Given the description of an element on the screen output the (x, y) to click on. 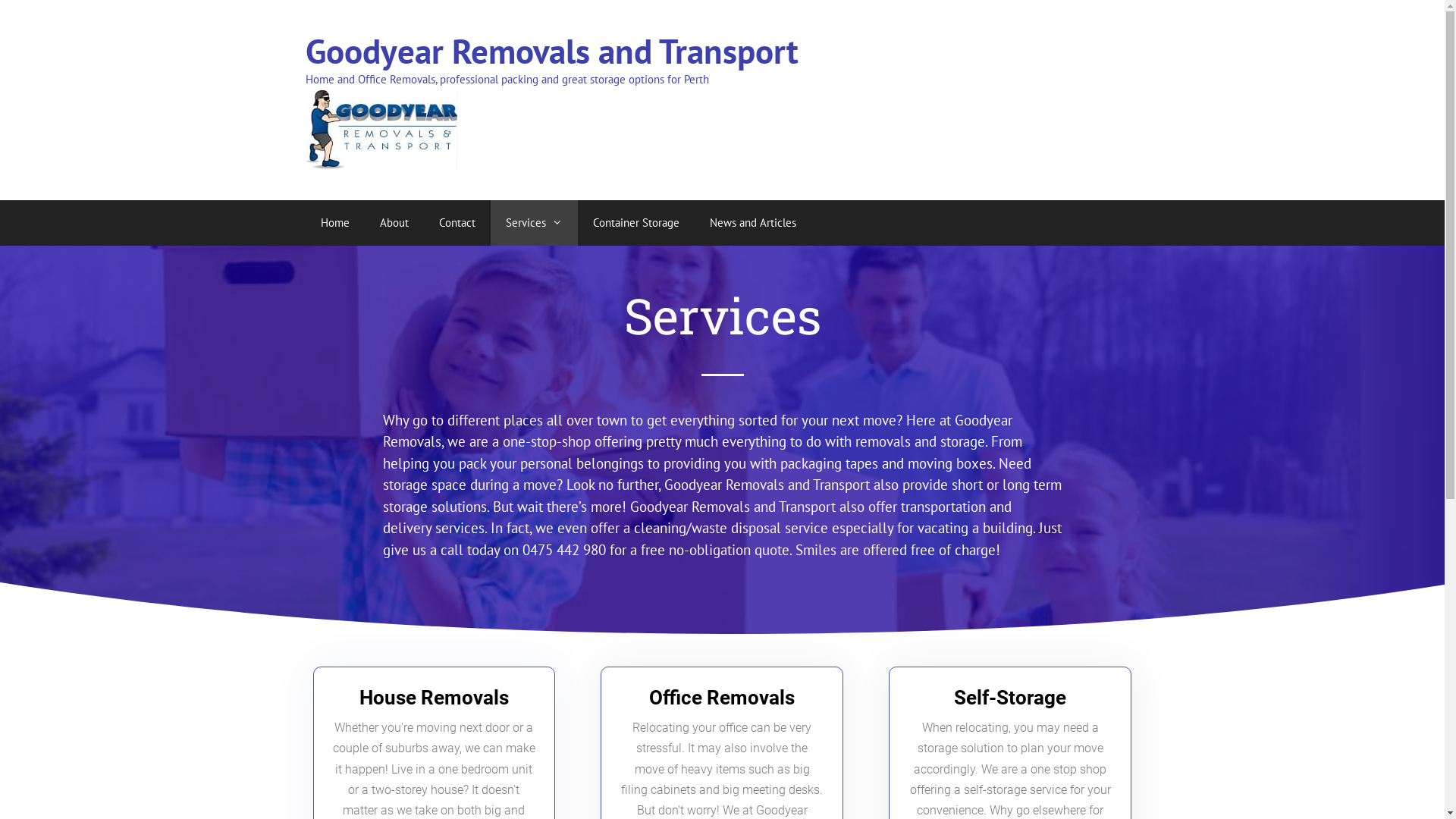
Goodyear Removals and Transport Element type: hover (380, 126)
About Element type: text (393, 222)
Office Removals Element type: text (721, 697)
Home Element type: text (334, 222)
House Removals Element type: text (433, 697)
Goodyear Removals and Transport Element type: hover (380, 128)
Self-Storage Element type: text (1009, 697)
News and Articles Element type: text (752, 222)
Goodyear Removals and Transport Element type: text (550, 50)
Contact Element type: text (456, 222)
Services Element type: text (533, 222)
Container Storage Element type: text (635, 222)
